Given the description of an element on the screen output the (x, y) to click on. 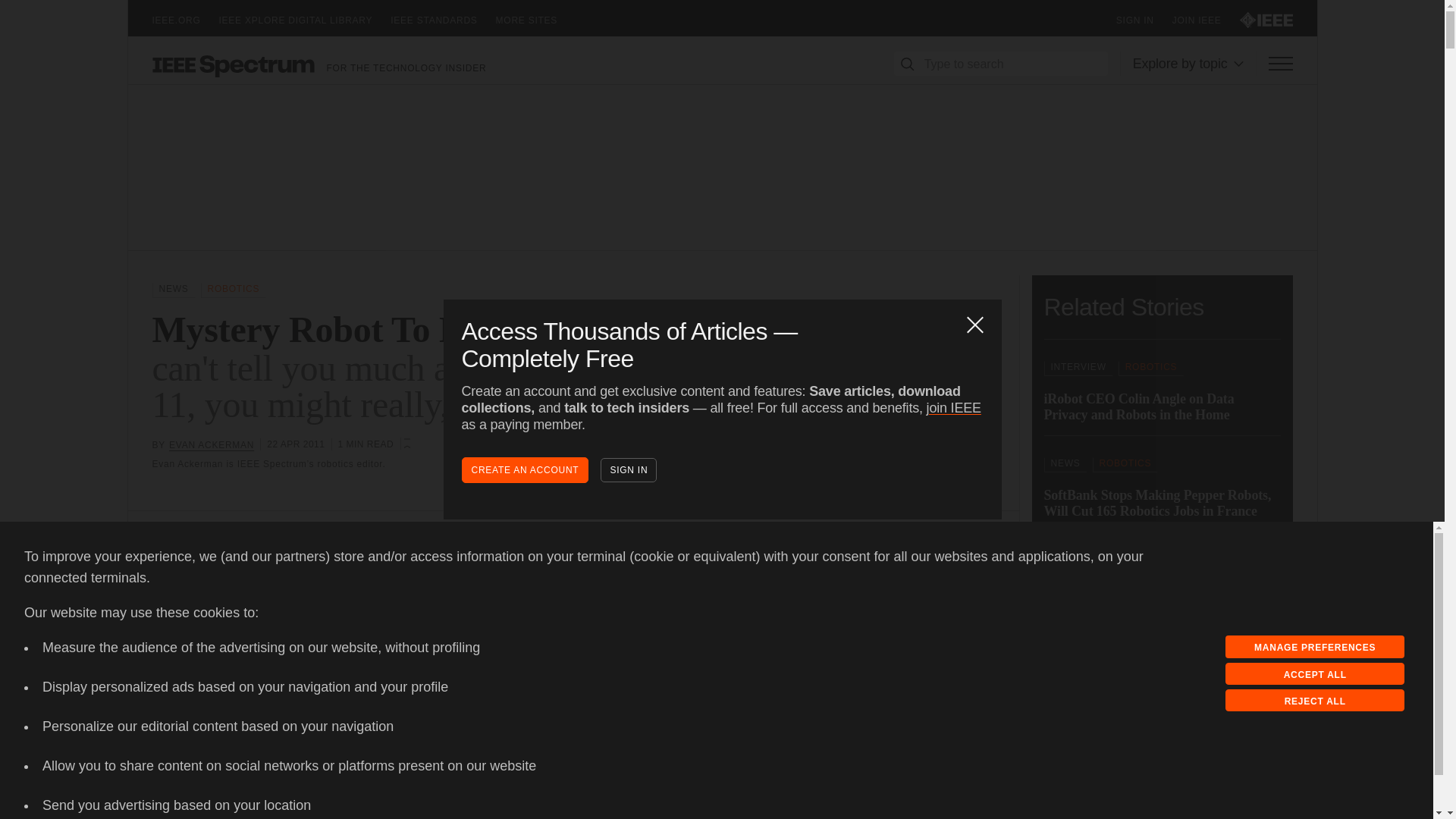
IEEE.ORG (184, 20)
IEEE XPLORE DIGITAL LIBRARY (305, 20)
MORE SITES (536, 20)
Spectrum Logo (232, 64)
MANAGE PREFERENCES (1315, 646)
REJECT ALL (1315, 700)
JOIN IEEE (1206, 20)
IEEE STANDARDS (442, 20)
Copy this link to clipboard (192, 577)
ACCEPT ALL (1315, 673)
Search (907, 63)
SIGN IN (1144, 20)
